Given the description of an element on the screen output the (x, y) to click on. 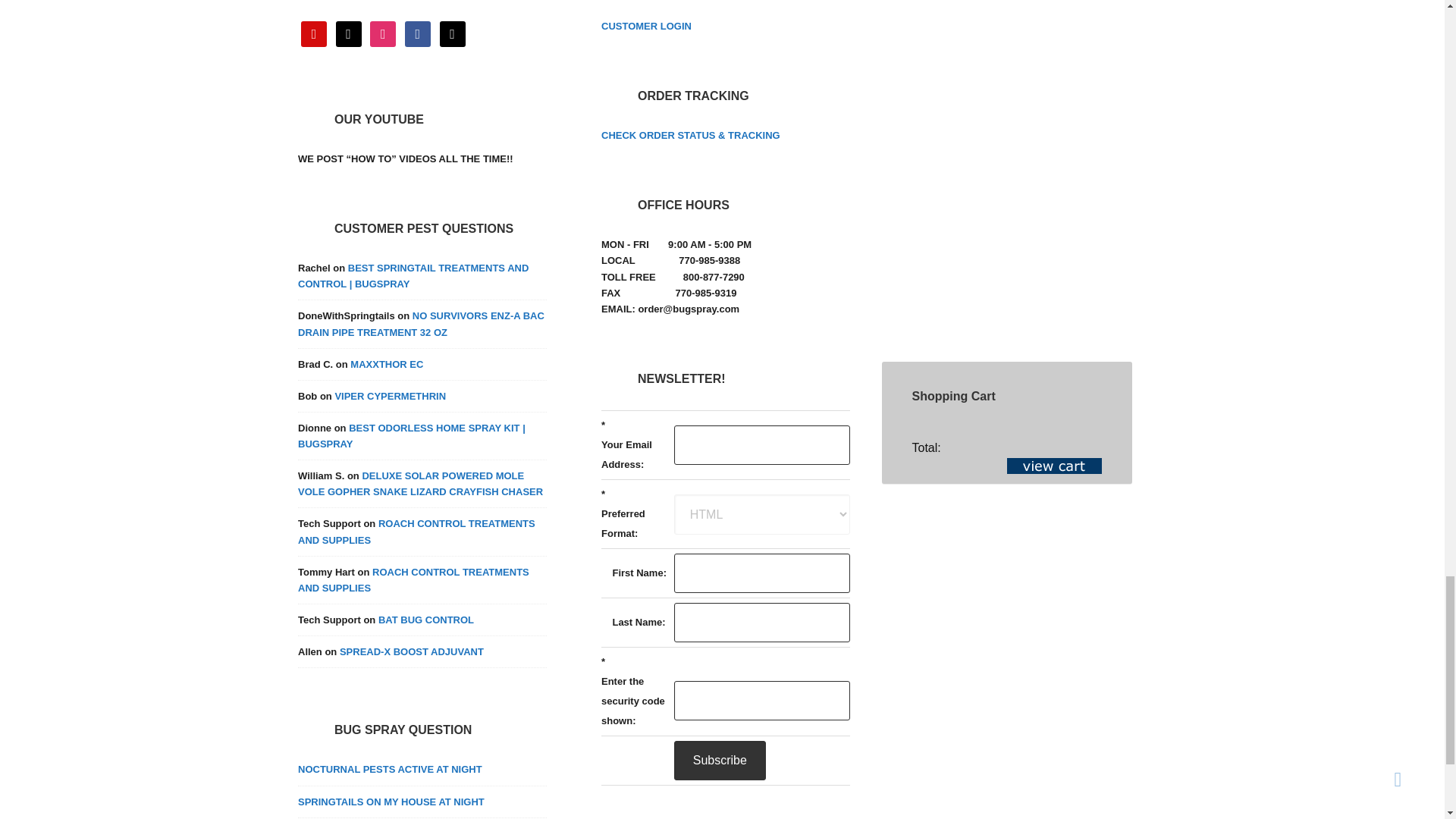
Default Label (348, 32)
Instagram (382, 32)
Default Label (452, 32)
Friend me on Facebook (417, 32)
Subscribe (719, 760)
